Given the description of an element on the screen output the (x, y) to click on. 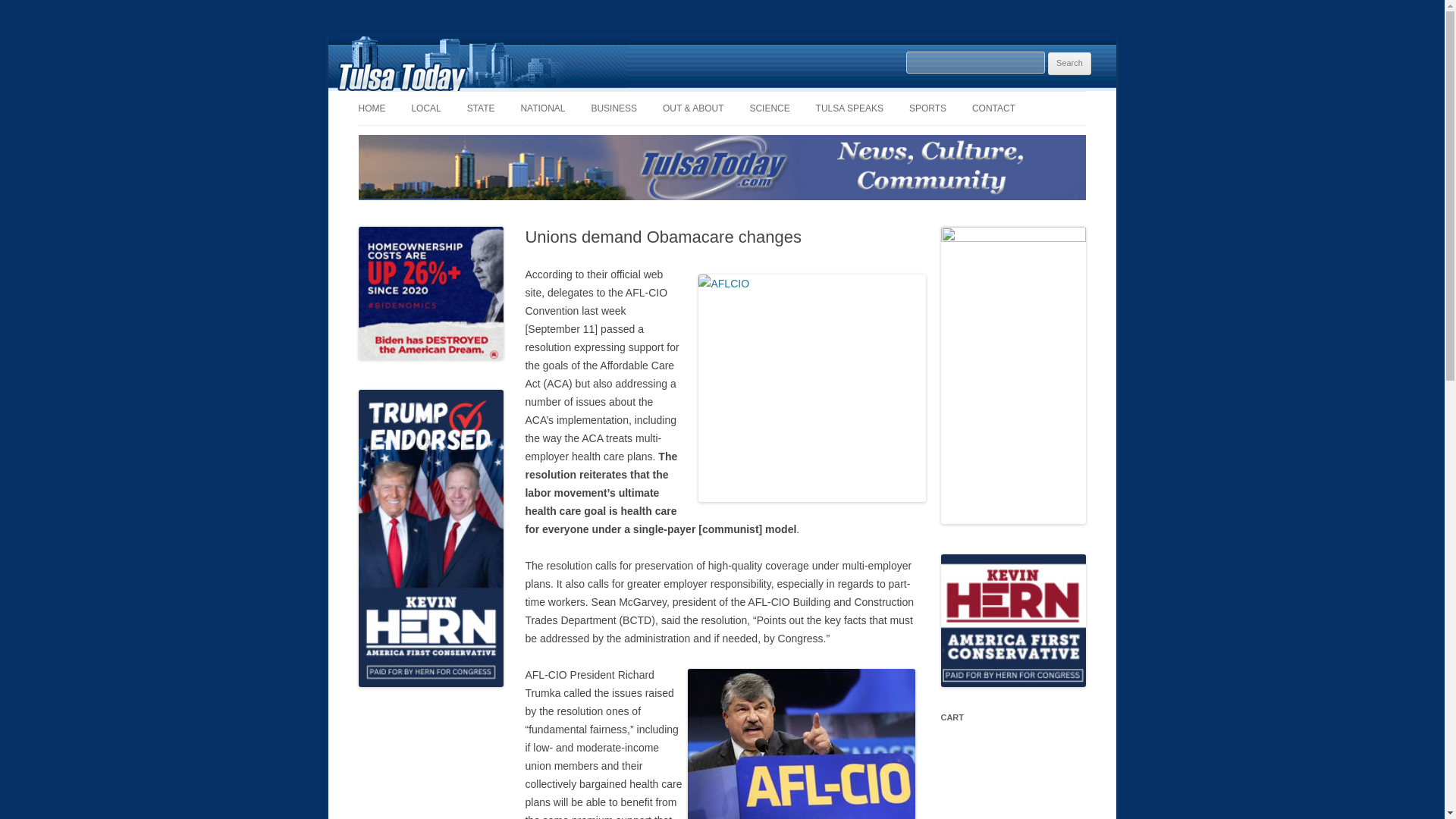
SPORTS (927, 108)
Search (1069, 63)
SCIENCE (769, 108)
TULSA SPEAKS (849, 108)
Skip to content (757, 95)
NATIONAL (541, 108)
Skip to content (757, 95)
CONTACT (993, 108)
Search (1069, 63)
BUSINESS (614, 108)
